Given the description of an element on the screen output the (x, y) to click on. 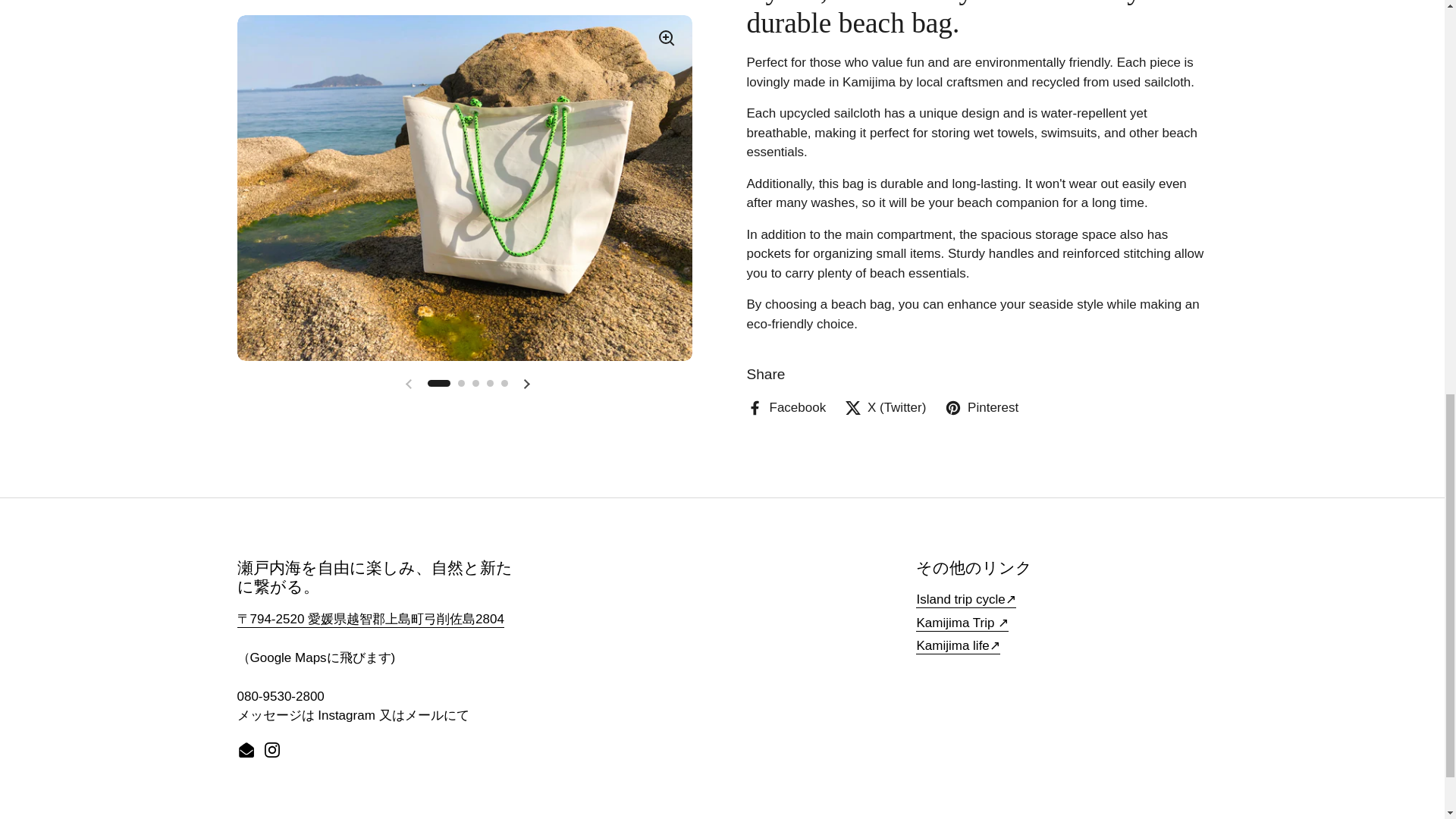
Share on facebook (785, 407)
Share on X (885, 407)
Pinterest (980, 407)
Email (244, 751)
Share on pinterest (980, 407)
Instagram (271, 751)
Facebook (785, 407)
